Given the description of an element on the screen output the (x, y) to click on. 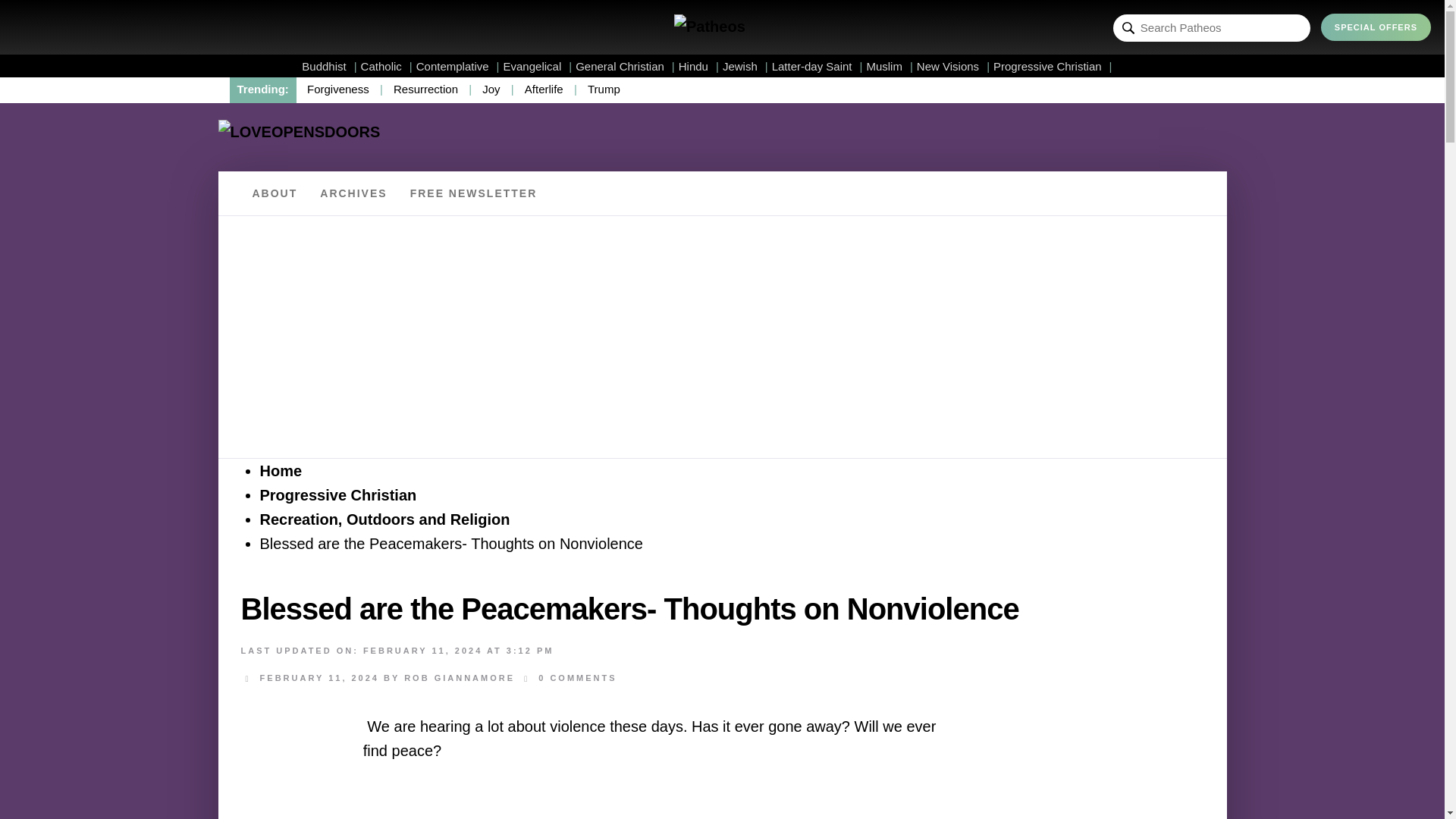
Latter-day Saint (817, 65)
Muslim (889, 65)
Jewish (745, 65)
Buddhist (328, 65)
Progressive Christian (1052, 65)
Hindu (698, 65)
New Visions (953, 65)
Catholic (386, 65)
Contemplative (457, 65)
Evangelical (537, 65)
SPECIAL OFFERS (1375, 26)
General Christian (625, 65)
